Given the description of an element on the screen output the (x, y) to click on. 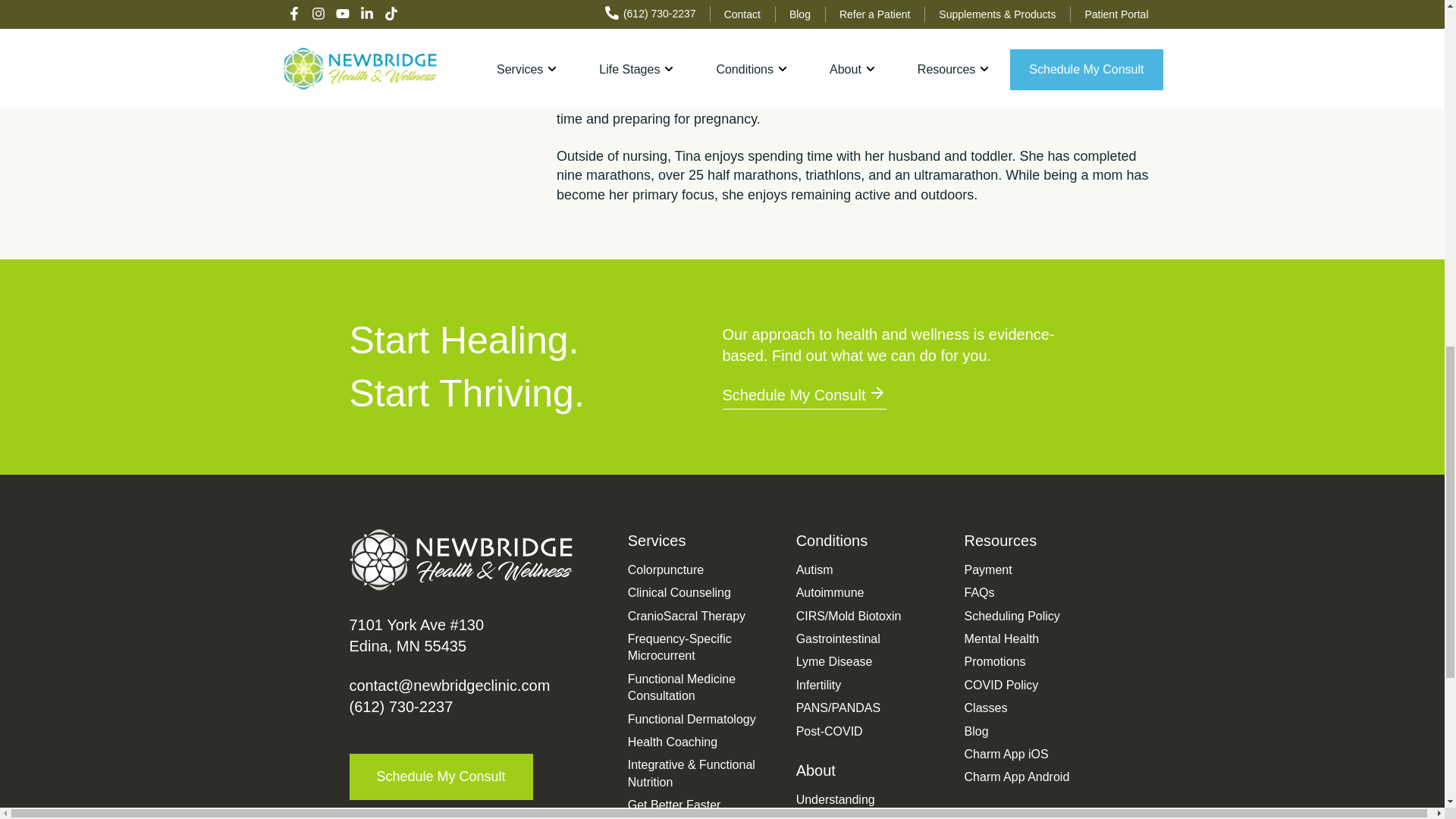
null (449, 685)
